Given the description of an element on the screen output the (x, y) to click on. 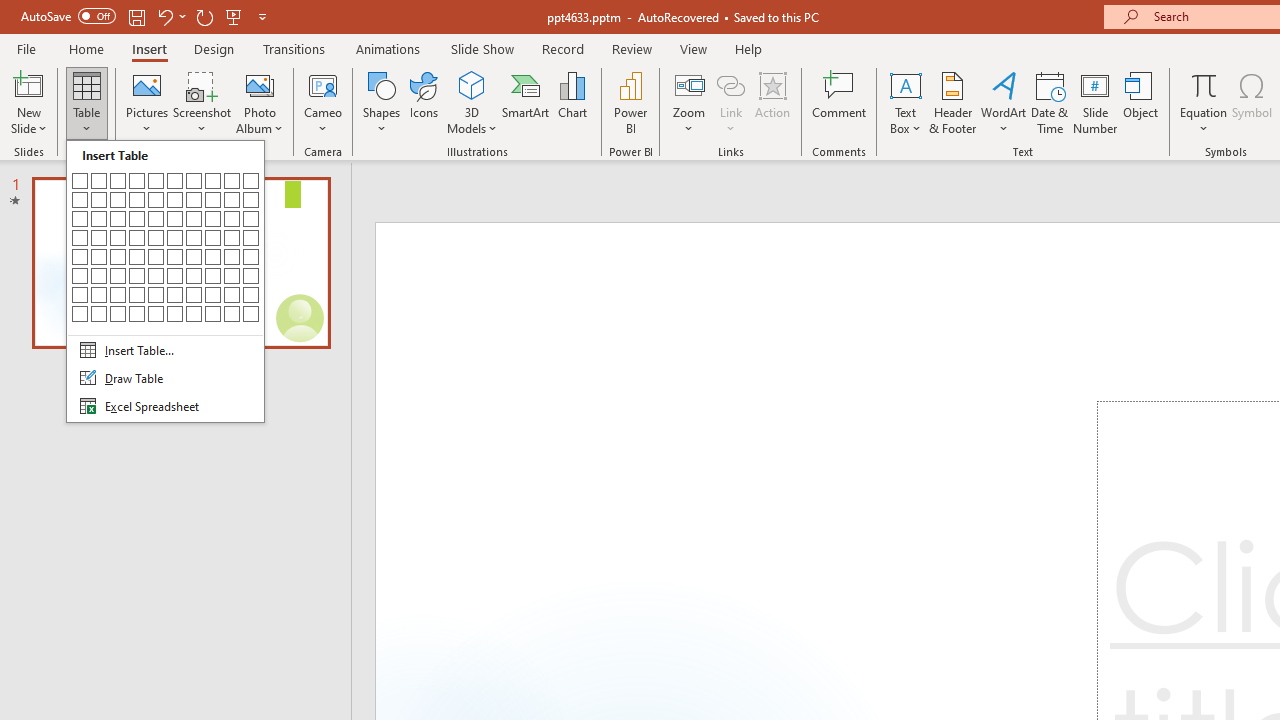
Screenshot (202, 102)
SmartArt... (525, 102)
Comment (839, 102)
Date & Time... (1050, 102)
Slide Number (1095, 102)
Power BI (630, 102)
Symbol... (1252, 102)
Draw Horizontal Text Box (905, 84)
